Given the description of an element on the screen output the (x, y) to click on. 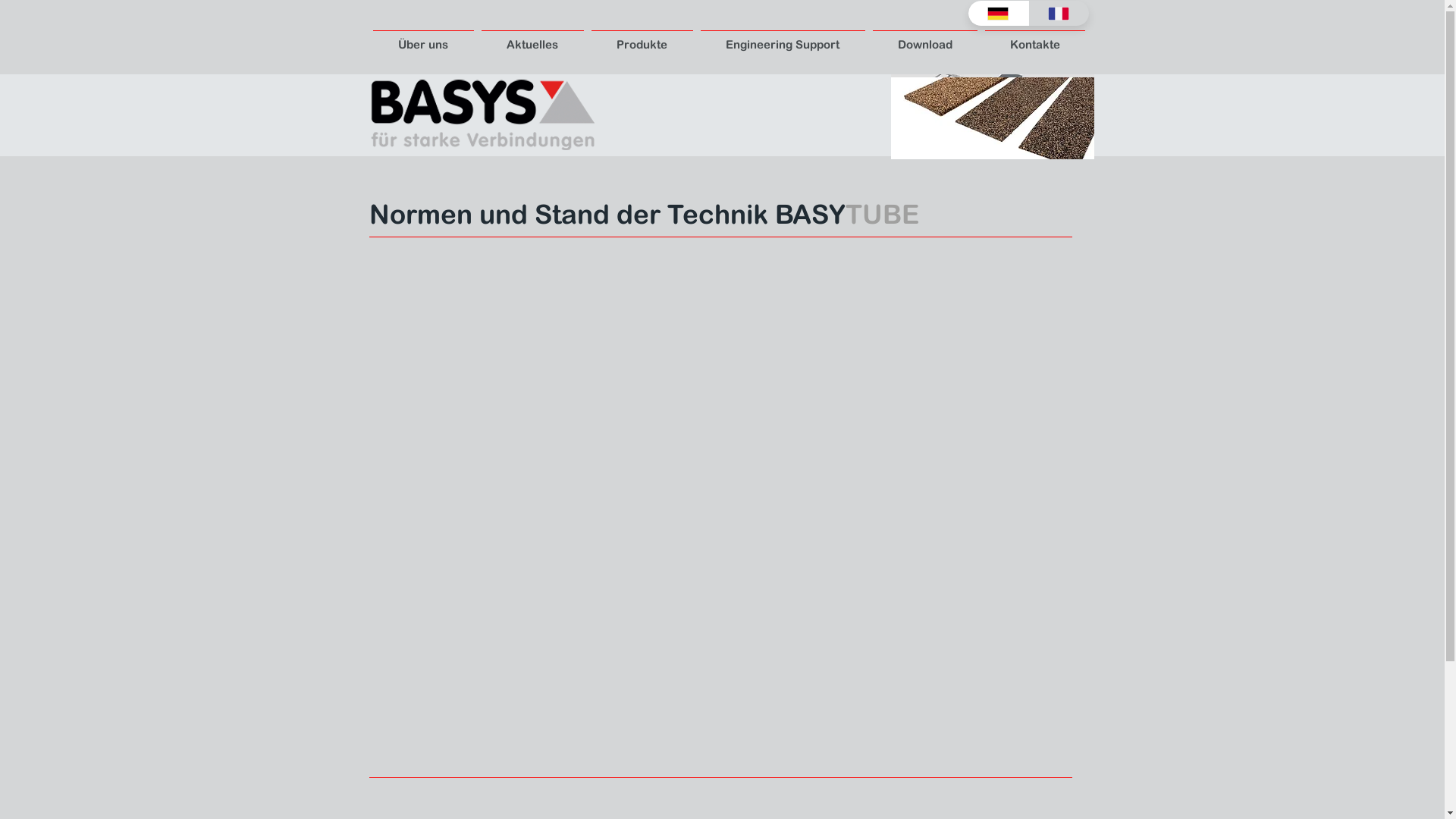
External YouTube Element type: hover (721, 509)
